Given the description of an element on the screen output the (x, y) to click on. 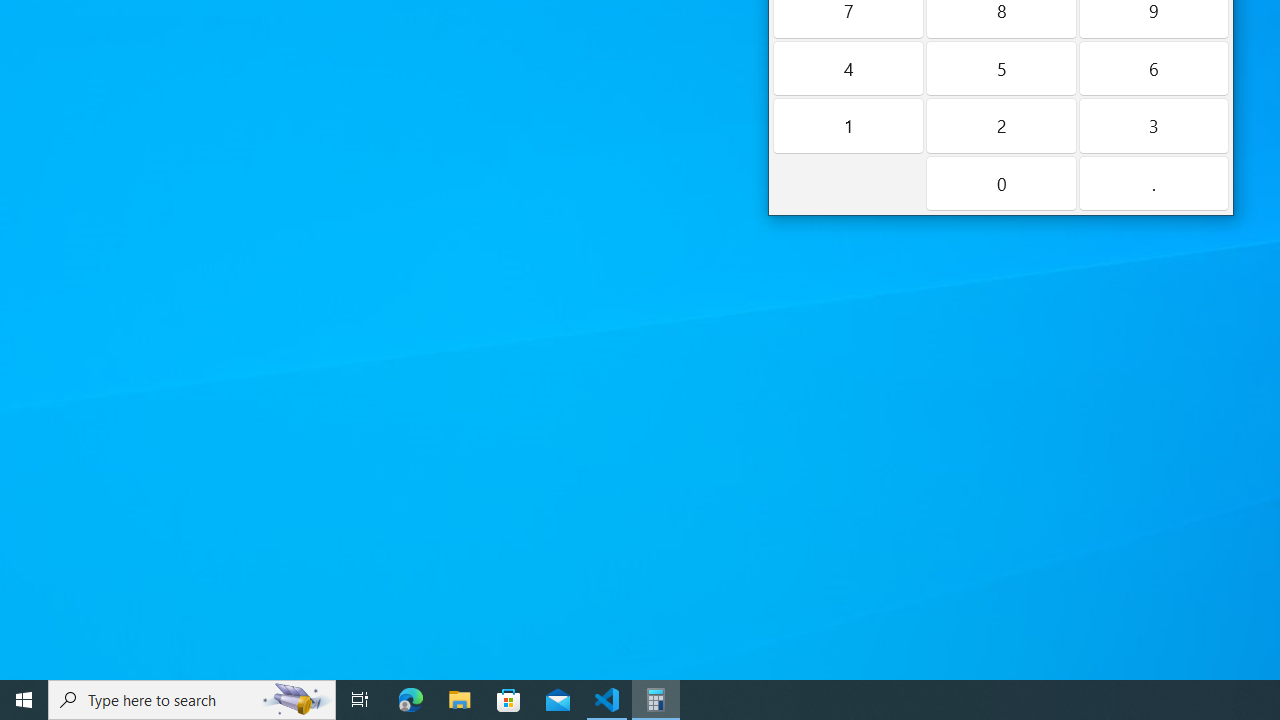
Two (1000, 125)
Four (848, 68)
Zero (1000, 183)
One (848, 125)
Decimal separator (1153, 183)
Six (1153, 68)
Calculator - 1 running window (656, 699)
